Given the description of an element on the screen output the (x, y) to click on. 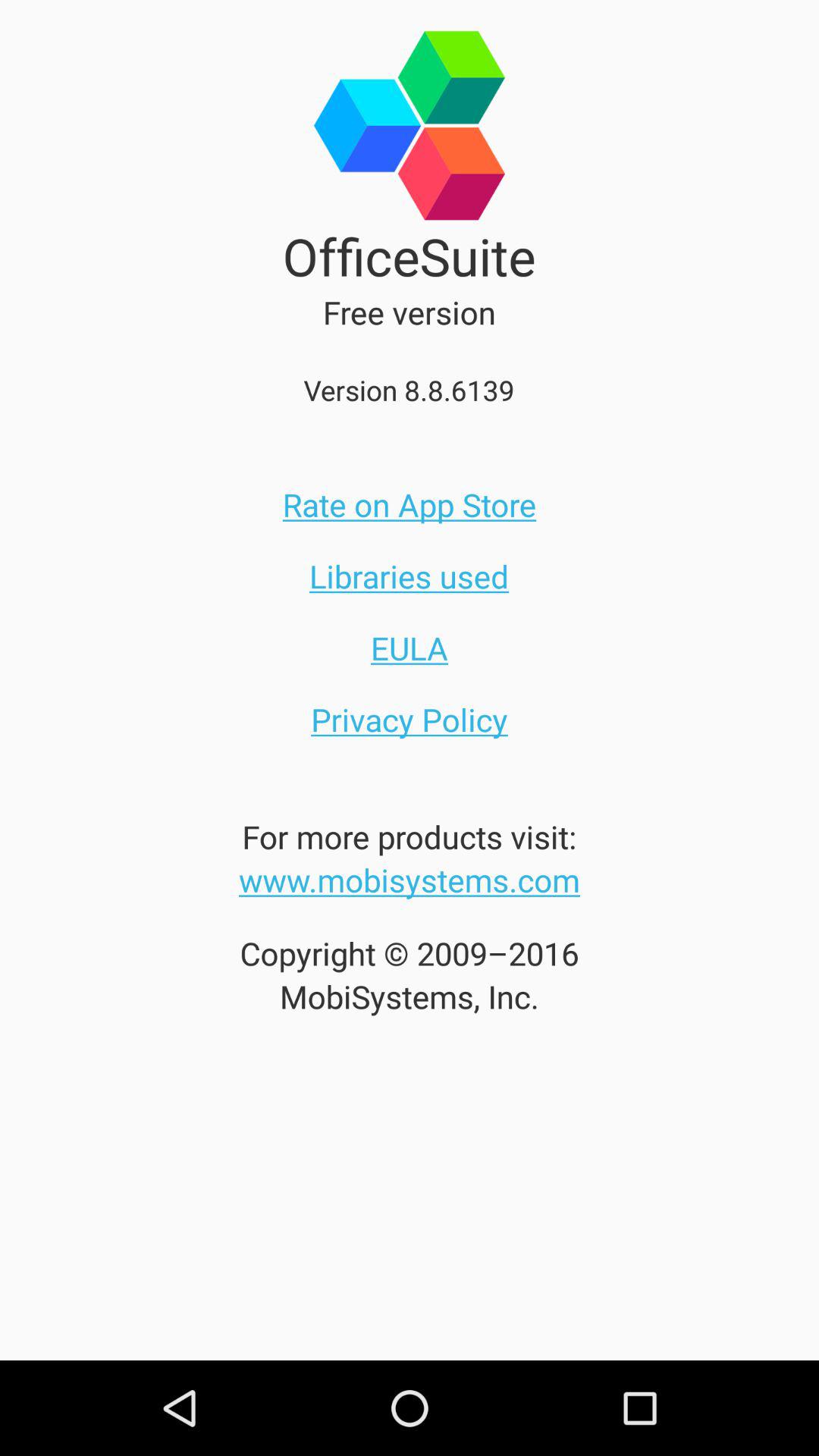
turn off the libraries used item (408, 575)
